Given the description of an element on the screen output the (x, y) to click on. 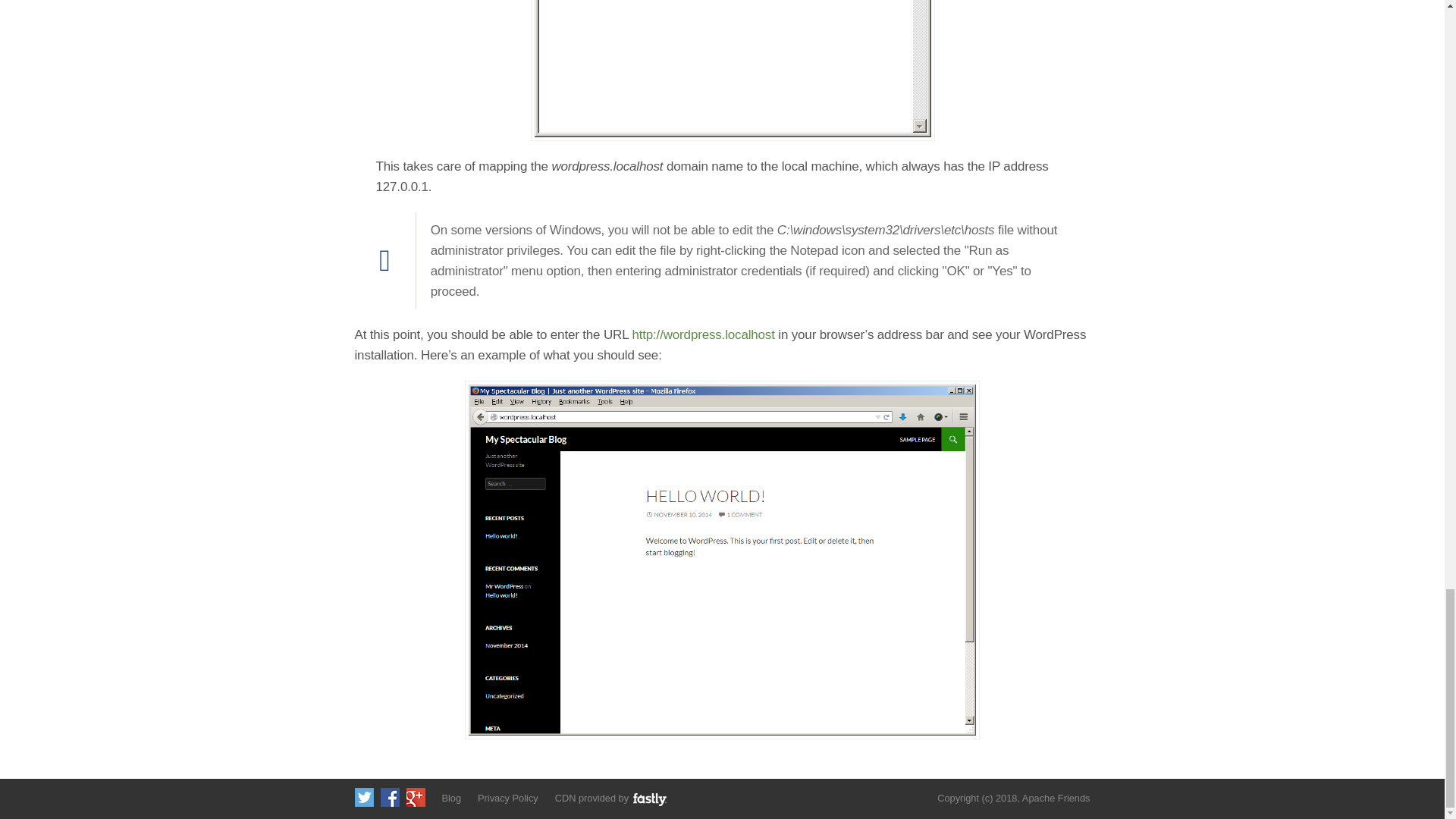
Like us on Facebook (389, 796)
CDN provided by (611, 798)
Follow us on Twitter (364, 796)
Blog (451, 798)
Privacy Policy (507, 798)
